Given the description of an element on the screen output the (x, y) to click on. 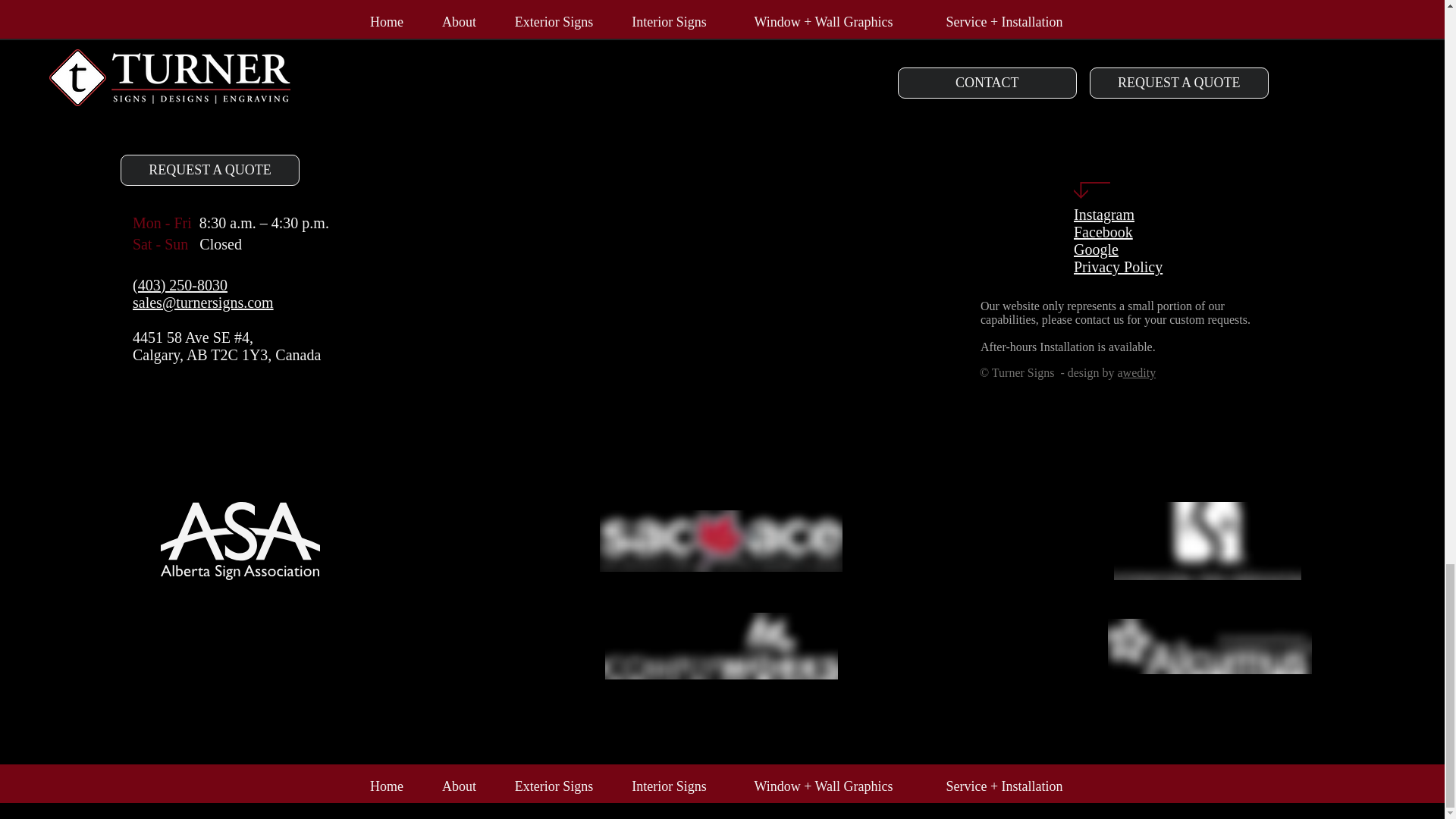
Instagram (1104, 214)
Facebook (1103, 231)
Contractor Check Listed (1209, 646)
REQUEST A QUOTE (209, 169)
Turner Signs Logo (1119, 60)
Privacy Policy (1117, 266)
International Sign Association Member (1207, 540)
Sign Association of Canada Member (721, 540)
Complyworks Listed Member (721, 645)
Google (1096, 248)
